Given the description of an element on the screen output the (x, y) to click on. 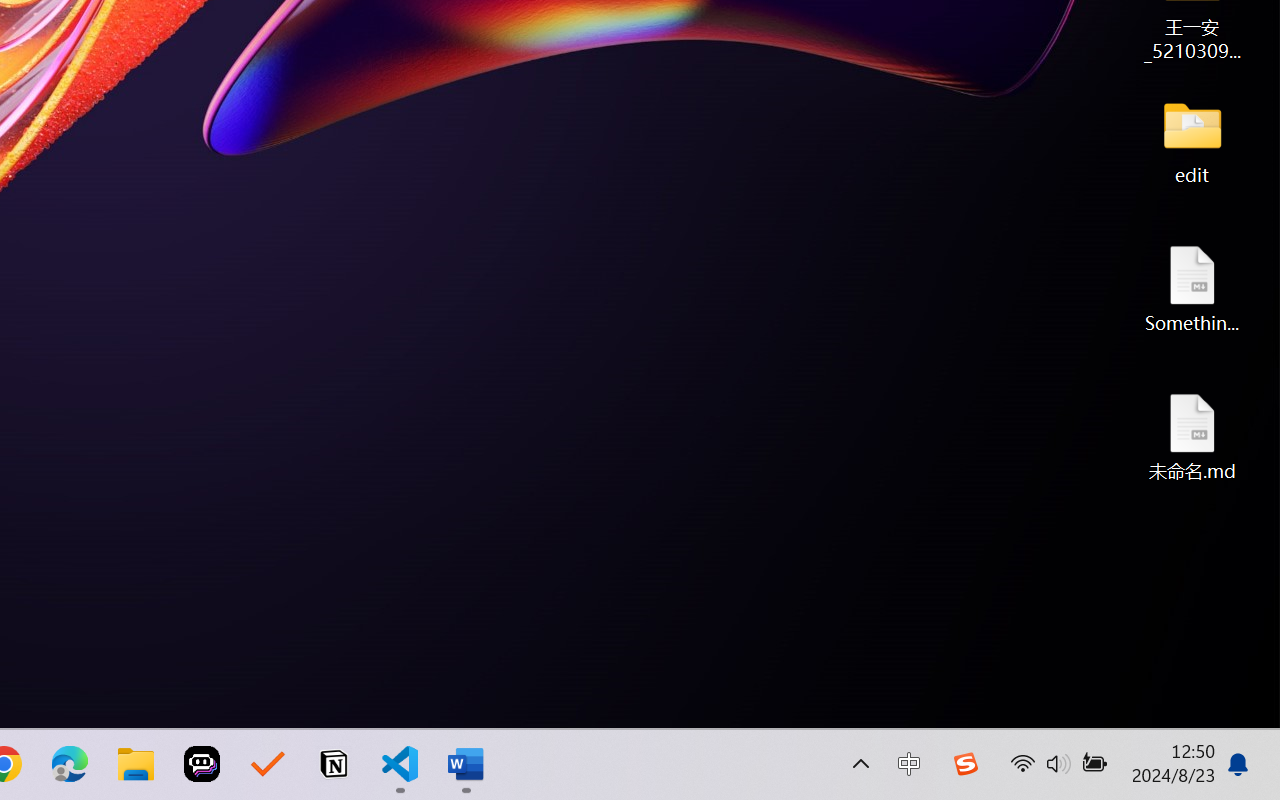
Microsoft Edge (69, 764)
Something.md (1192, 288)
